Given the description of an element on the screen output the (x, y) to click on. 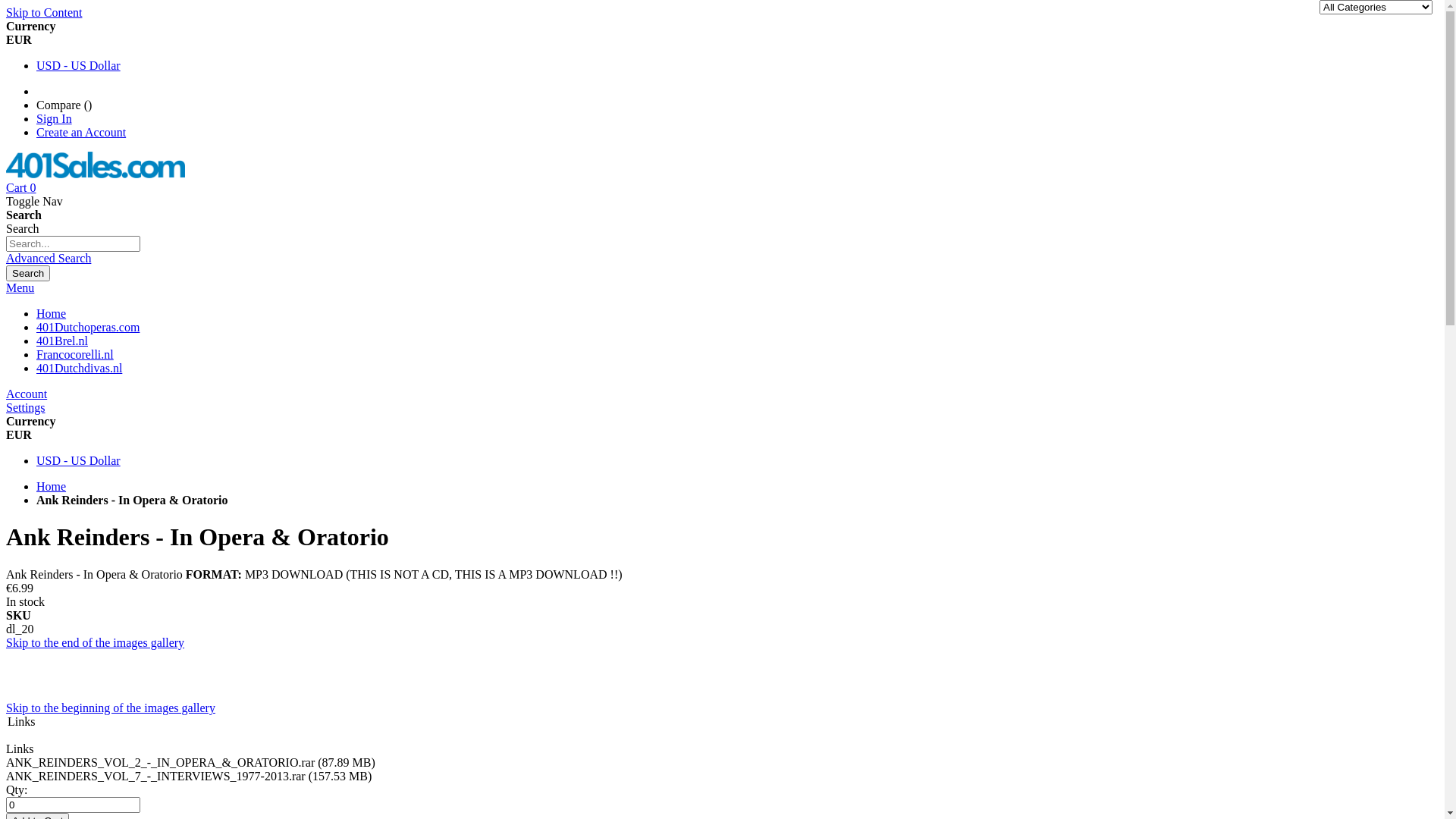
Advanced Search Element type: text (48, 257)
USD - US Dollar Element type: text (78, 65)
401Dutchoperas.com Element type: text (87, 326)
Search Element type: text (28, 273)
Account Element type: text (26, 393)
401Dutchdivas.nl Element type: text (79, 367)
Compare () Element type: text (63, 104)
Skip to the end of the images gallery Element type: text (95, 642)
Skip to Content Element type: text (43, 12)
Cart 0 Element type: text (21, 187)
401Sales.com Element type: hover (95, 173)
Home Element type: text (50, 313)
Menu Element type: text (20, 287)
401Brel.nl Element type: text (61, 340)
Francocorelli.nl Element type: text (74, 354)
Home Element type: text (50, 486)
USD - US Dollar Element type: text (78, 460)
Create an Account Element type: text (80, 131)
Sign In Element type: text (54, 118)
Skip to the beginning of the images gallery Element type: text (110, 707)
Settings Element type: text (25, 407)
Qty Element type: hover (73, 804)
